Given the description of an element on the screen output the (x, y) to click on. 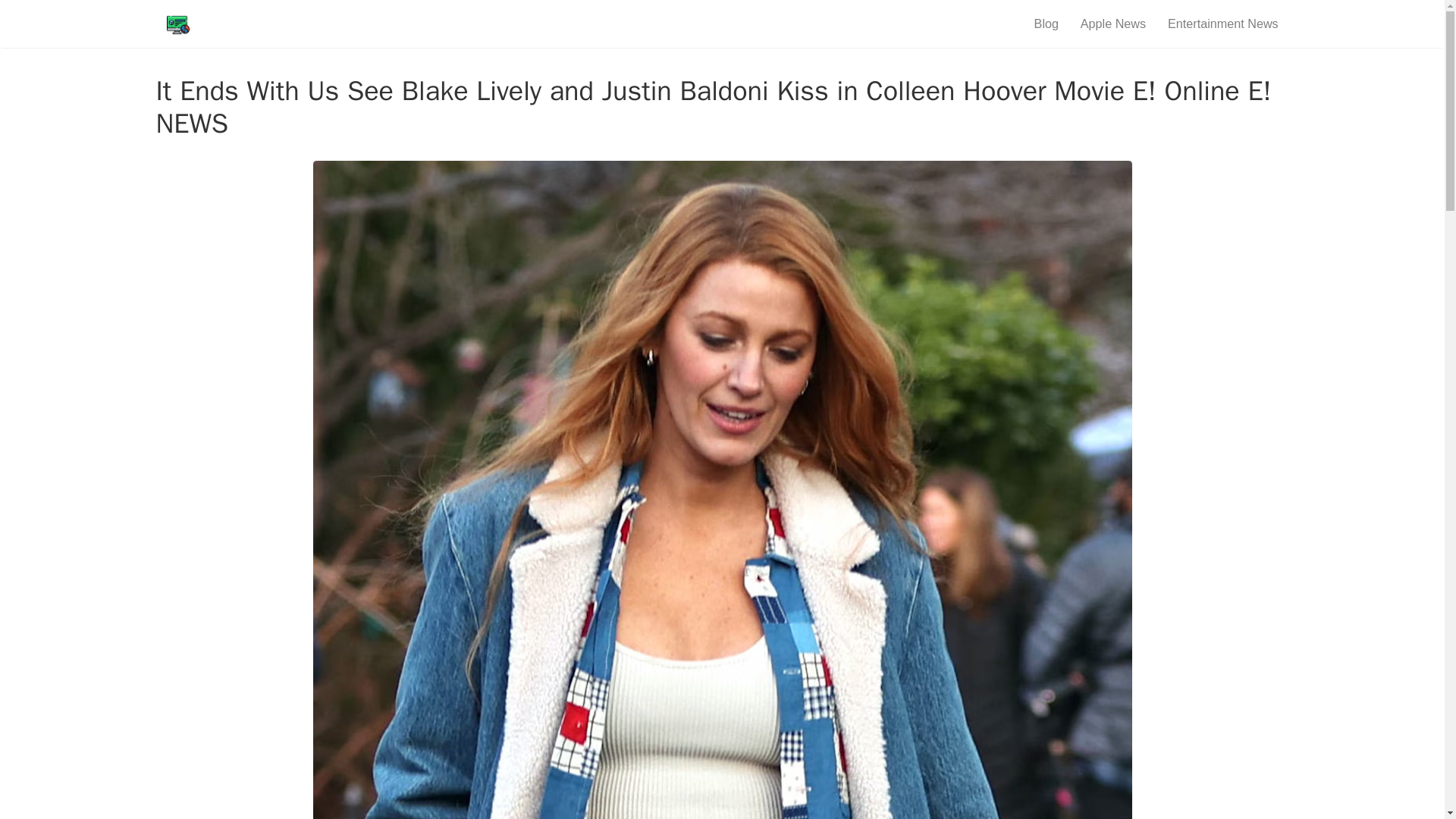
Entertainment News (1223, 23)
Apple News (1112, 23)
Blog (1045, 23)
